Given the description of an element on the screen output the (x, y) to click on. 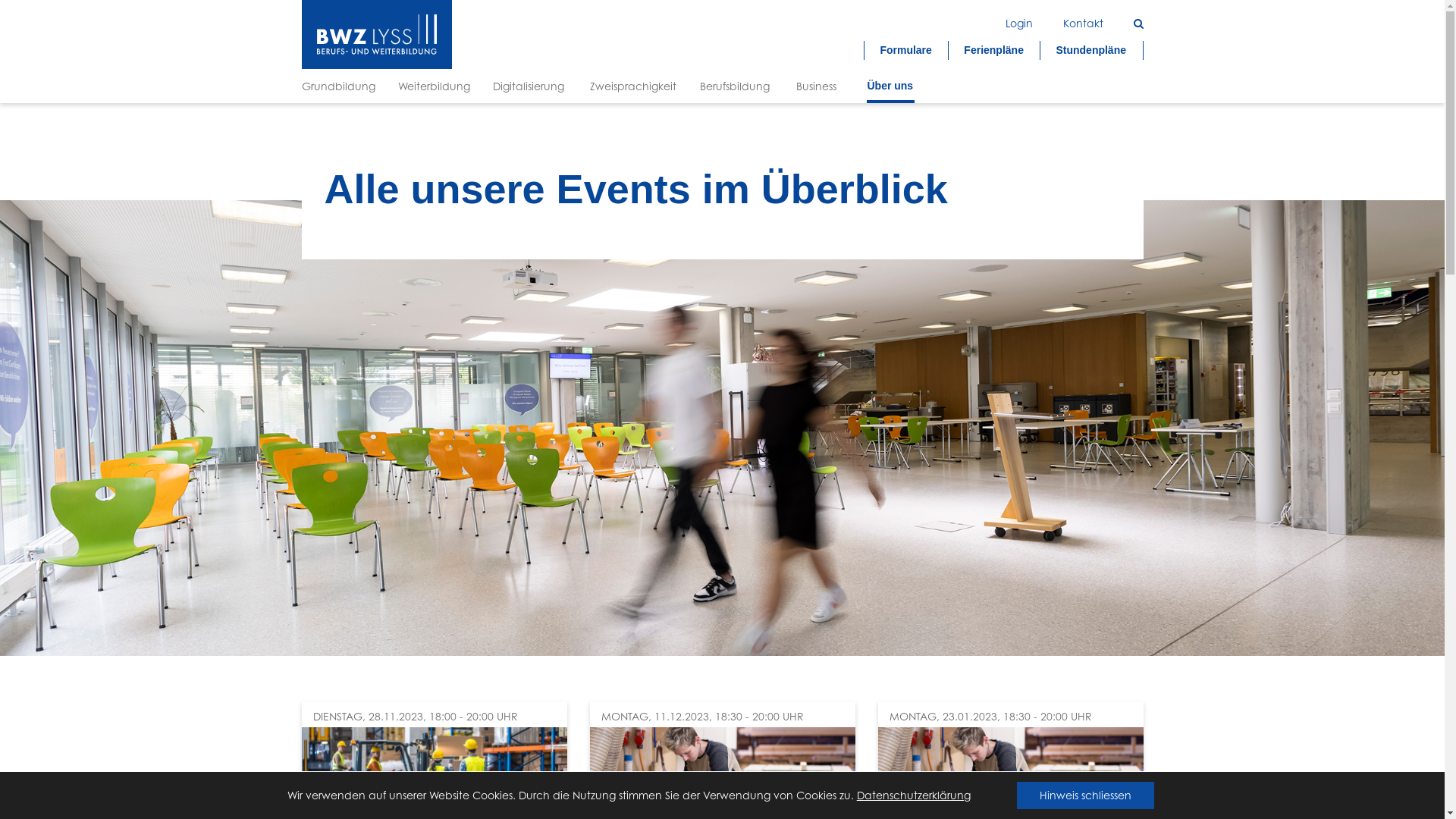
Zweisprachigkeit Element type: text (633, 86)
Berufsbildung Element type: text (735, 86)
Kontakt Element type: text (1083, 23)
Grundbildung Element type: text (338, 86)
Business Element type: text (820, 86)
Digitalisierung Element type: text (529, 86)
Hinweis schliessen Element type: text (1085, 795)
Weiterbildung Element type: text (433, 86)
<i class='fa fa-search'></i> Element type: hover (1137, 23)
Formulare Element type: text (905, 50)
Login Element type: text (1018, 23)
